Given the description of an element on the screen output the (x, y) to click on. 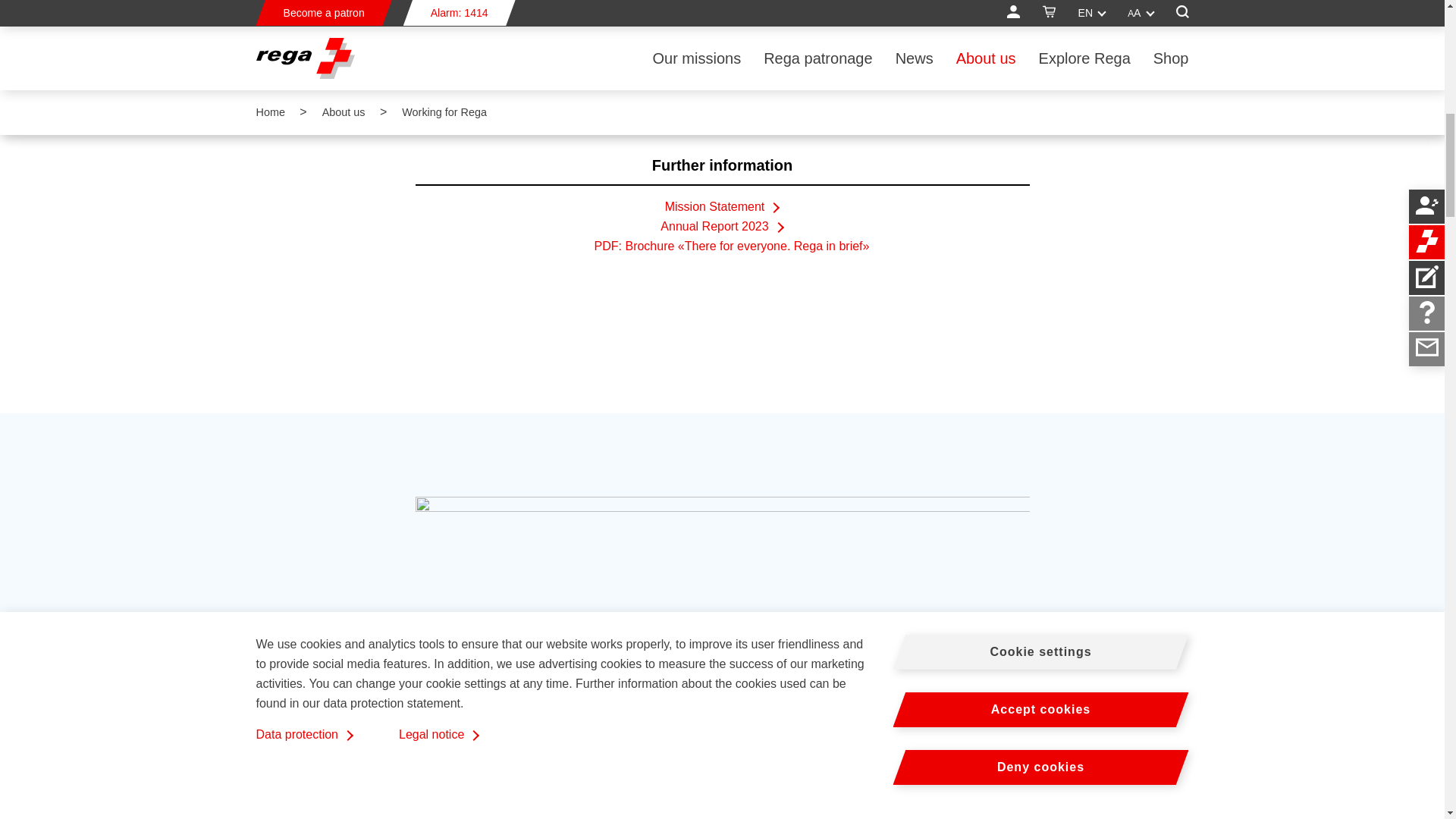
Download file (722, 245)
